Given the description of an element on the screen output the (x, y) to click on. 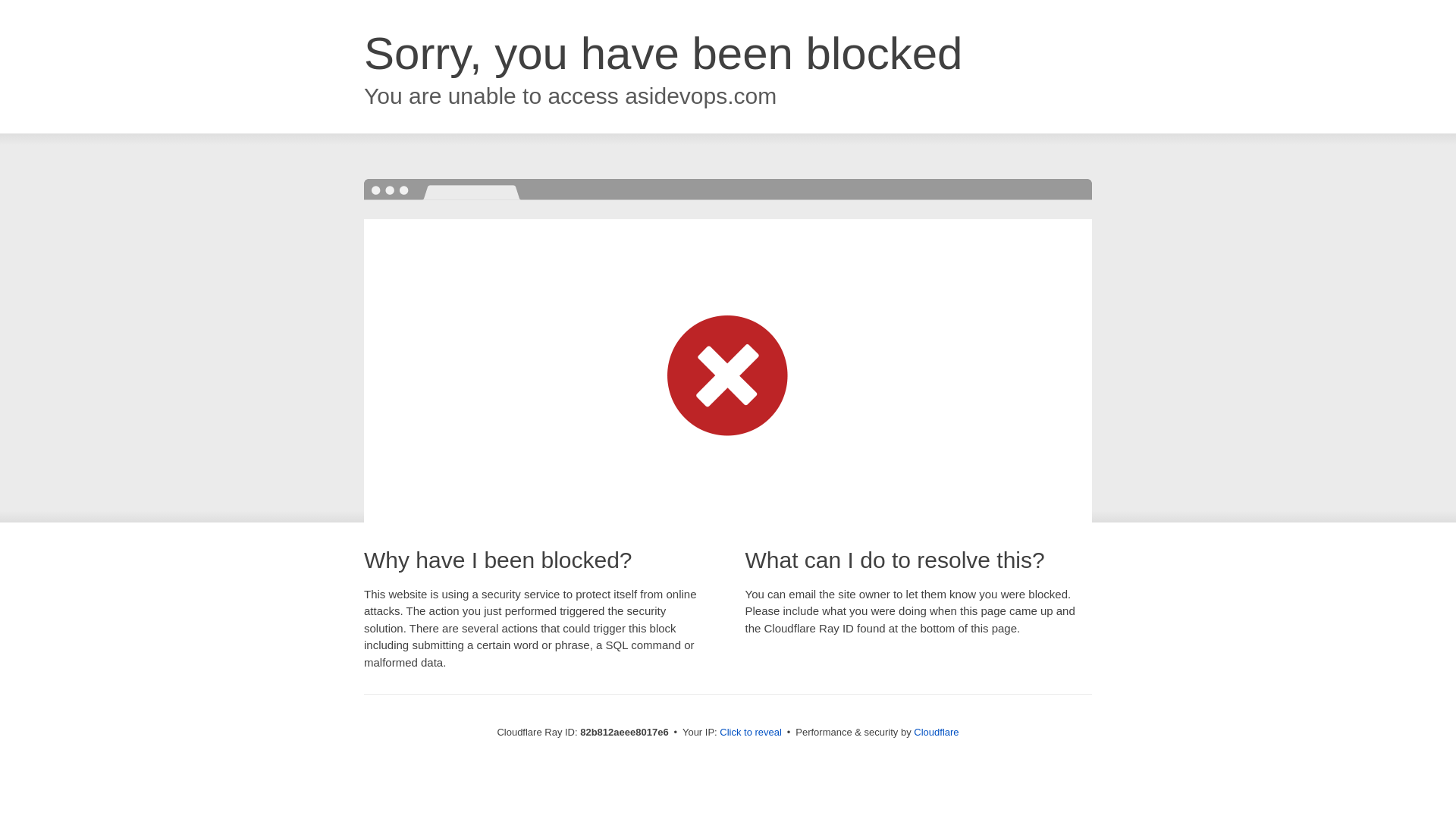
Cloudflare Element type: text (935, 731)
Click to reveal Element type: text (750, 732)
